Given the description of an element on the screen output the (x, y) to click on. 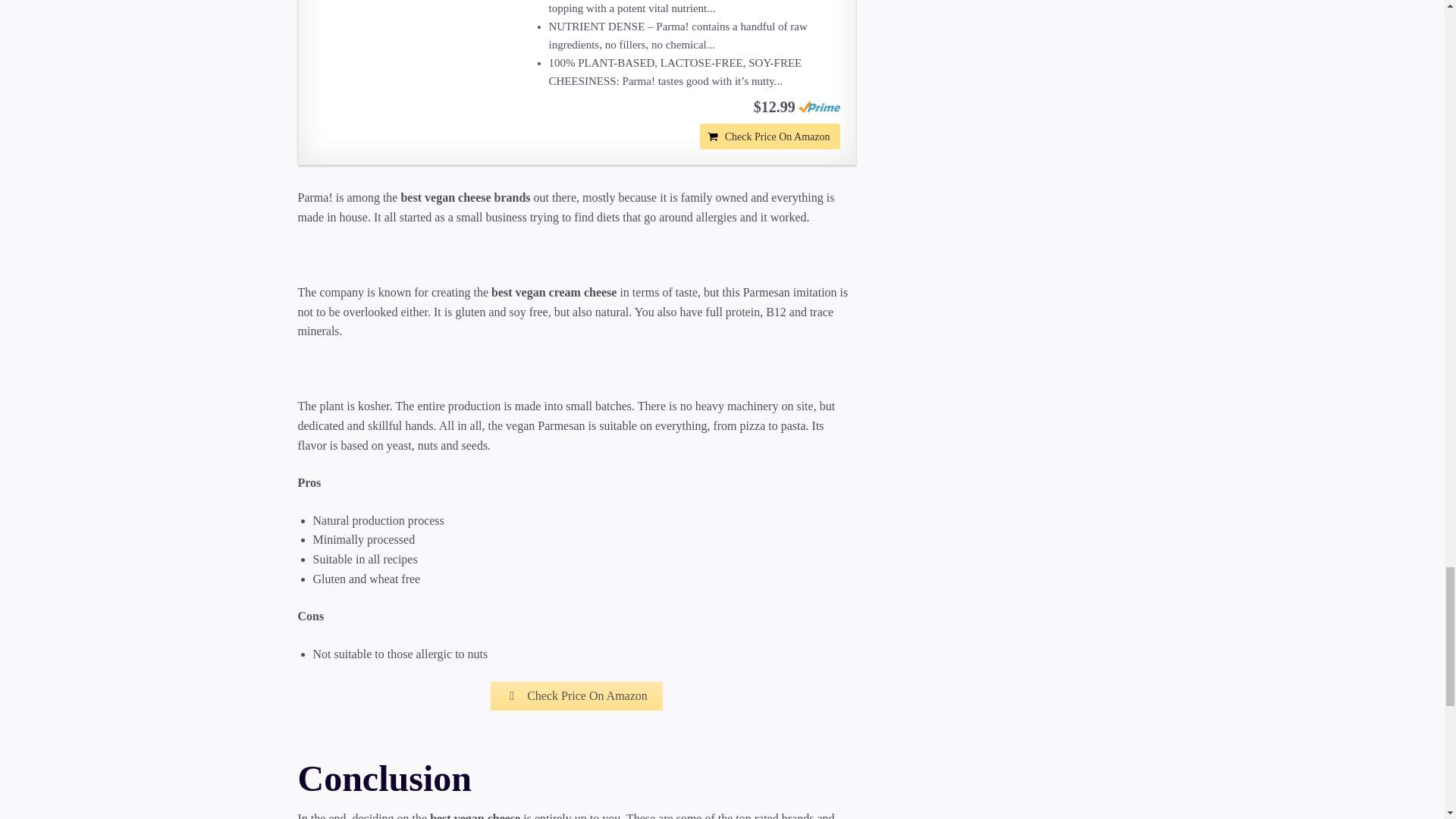
Check Price On Amazon (576, 695)
Check Price On Amazon (770, 136)
Amazon Prime (818, 106)
Check Price On Amazon (770, 136)
